Given the description of an element on the screen output the (x, y) to click on. 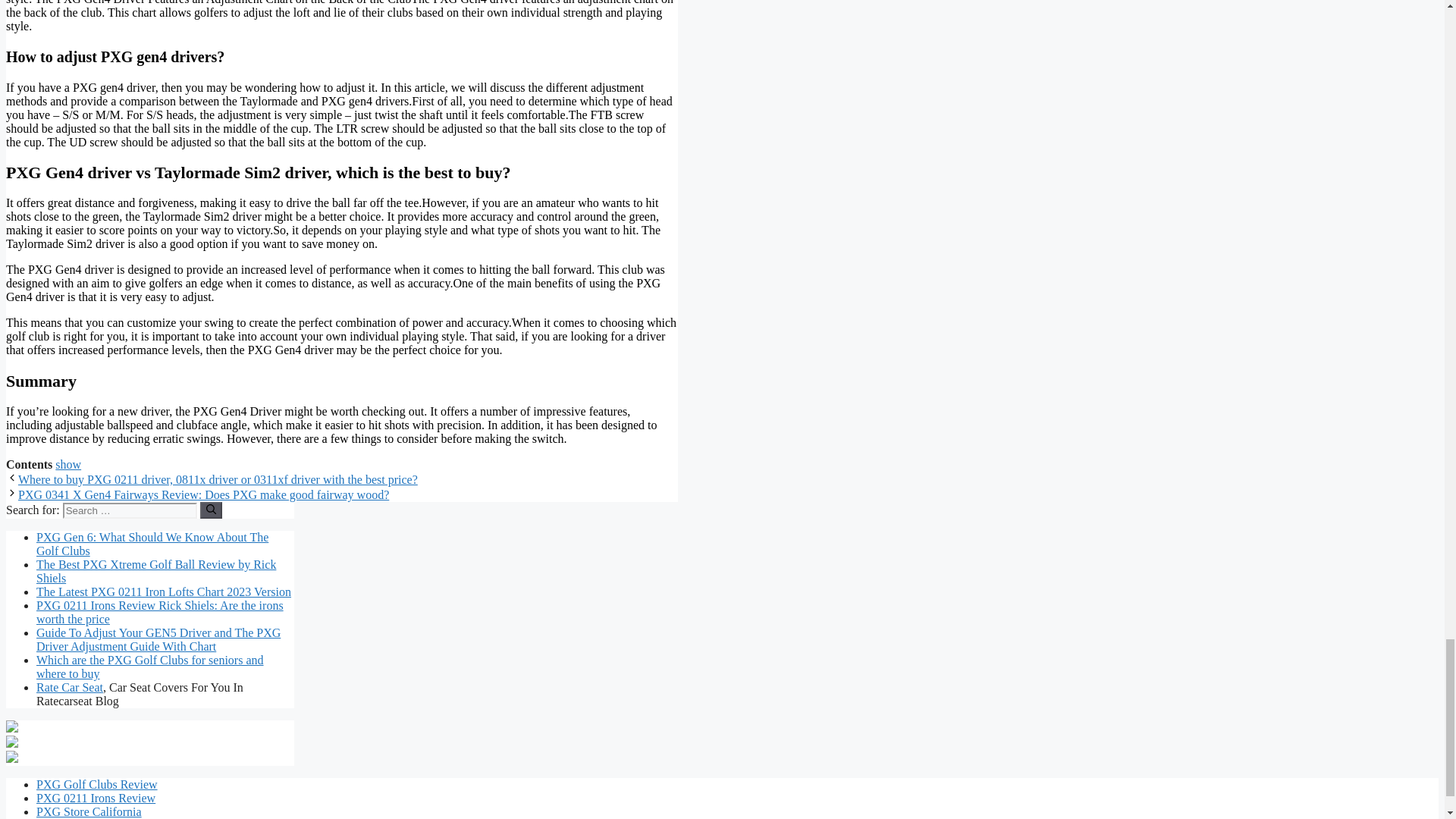
Search for: (129, 510)
